Given the description of an element on the screen output the (x, y) to click on. 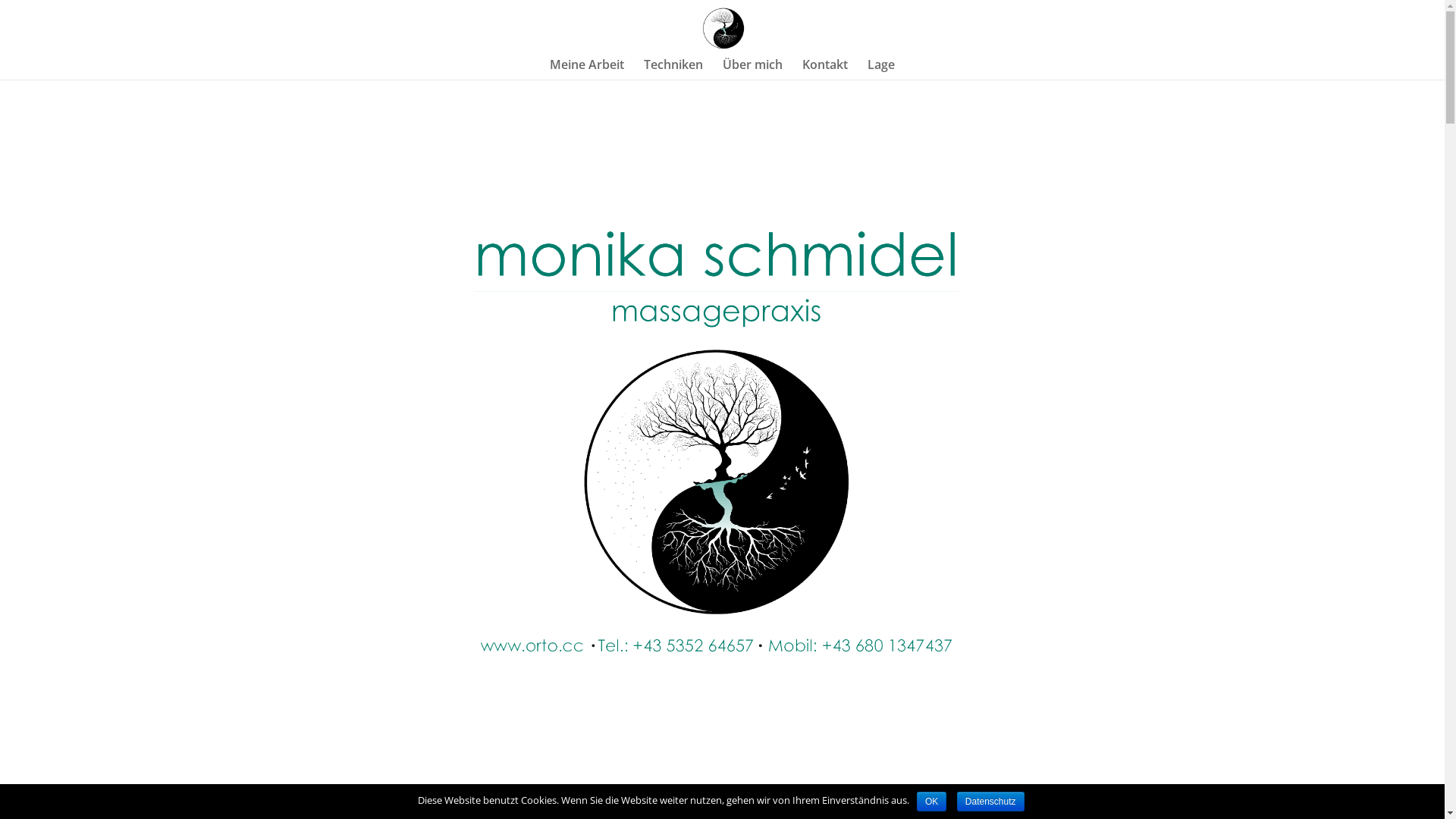
OK Element type: text (931, 801)
Techniken Element type: text (672, 69)
Meine Arbeit Element type: text (586, 69)
Lage Element type: text (880, 69)
Datenschutz Element type: text (990, 801)
Kontakt Element type: text (824, 69)
